Given the description of an element on the screen output the (x, y) to click on. 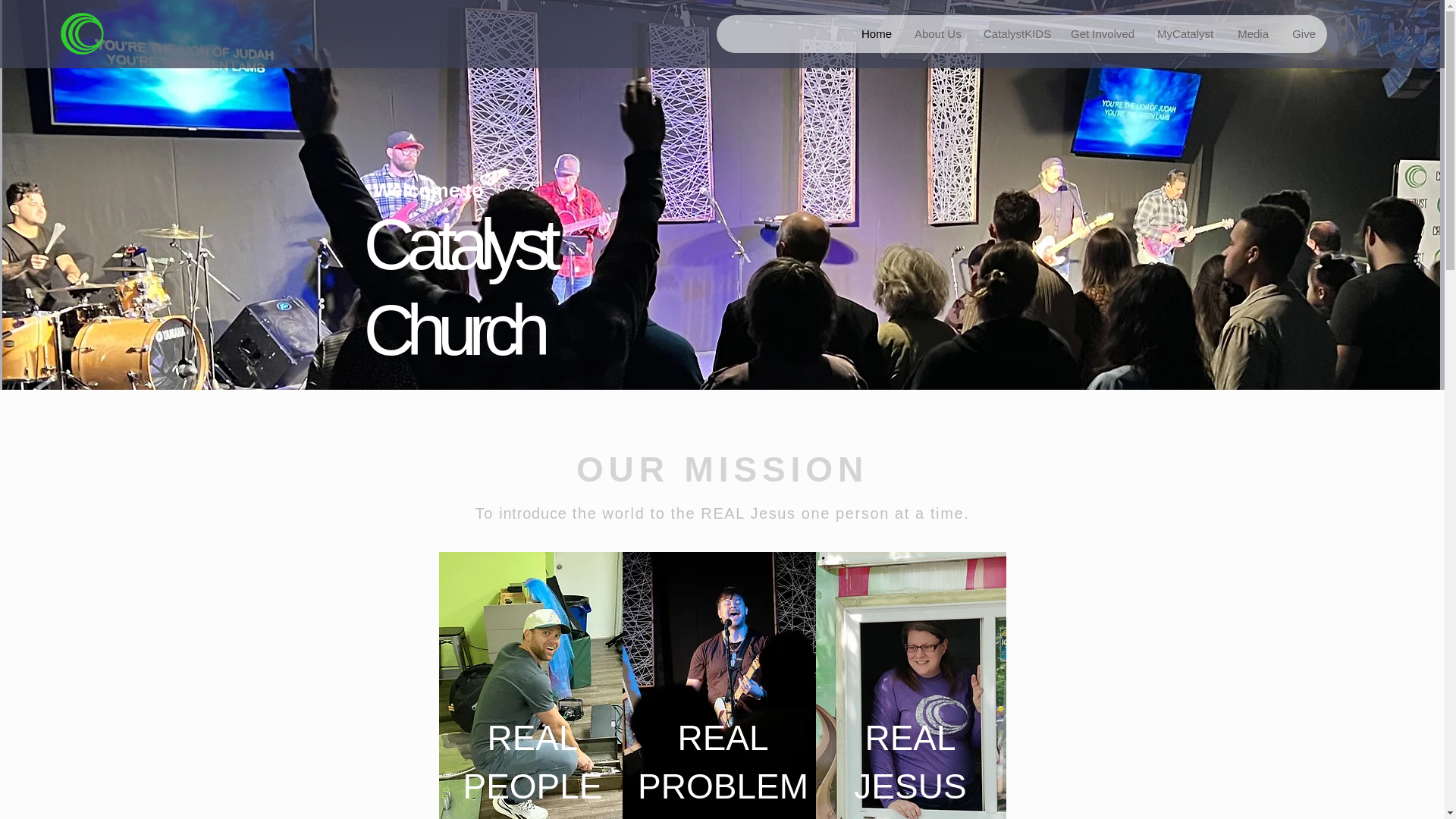
MyCatalyst (1184, 34)
Give (1302, 34)
Home (875, 34)
Media (1251, 34)
CatalystKIDS (1014, 34)
Get Involved (1101, 34)
